Given the description of an element on the screen output the (x, y) to click on. 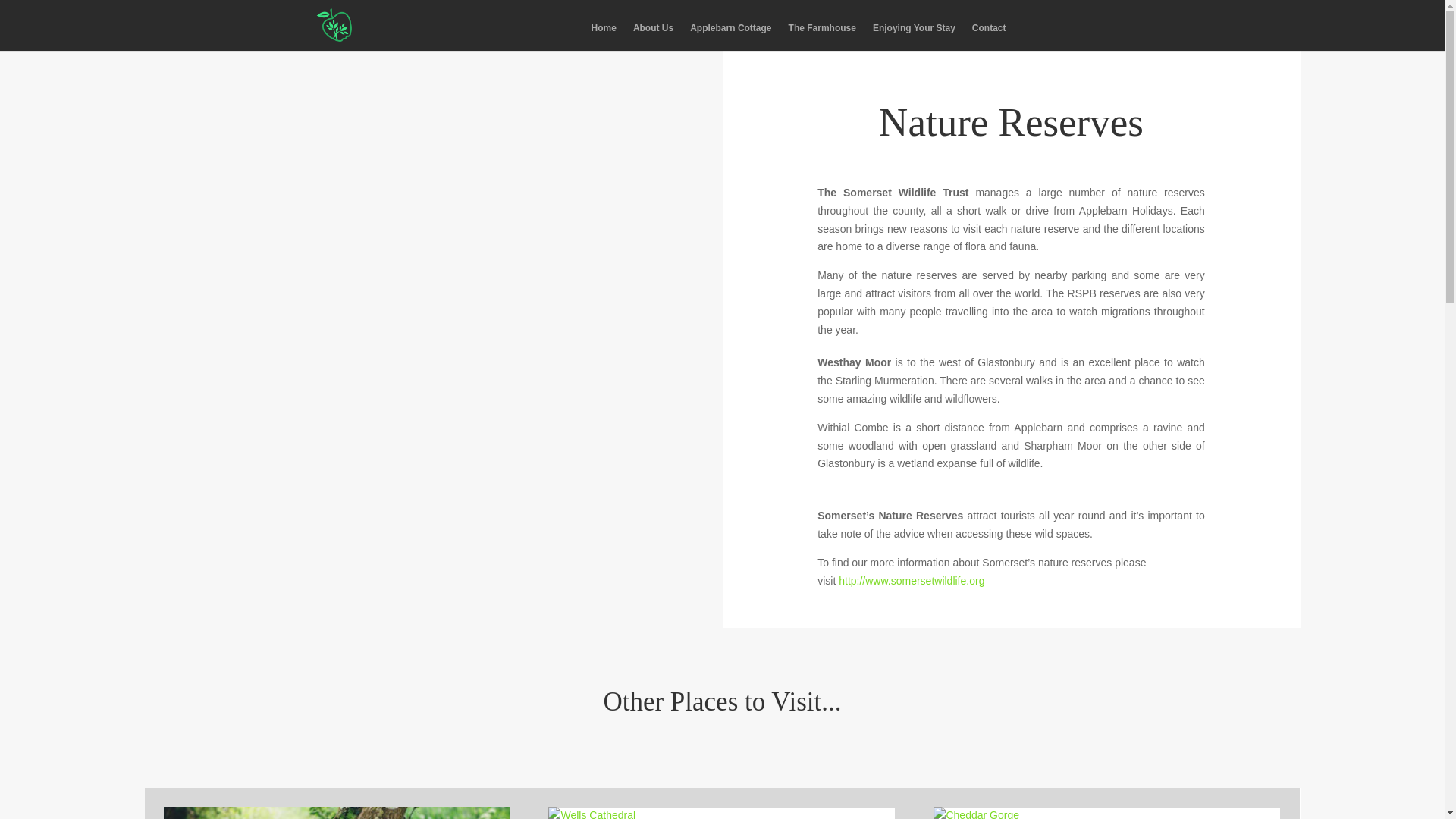
The Farmhouse (822, 36)
Contact (989, 36)
Enjoying Your Stay (913, 36)
Applebarn Cottage (730, 36)
About Us (652, 36)
Home (603, 36)
